Given the description of an element on the screen output the (x, y) to click on. 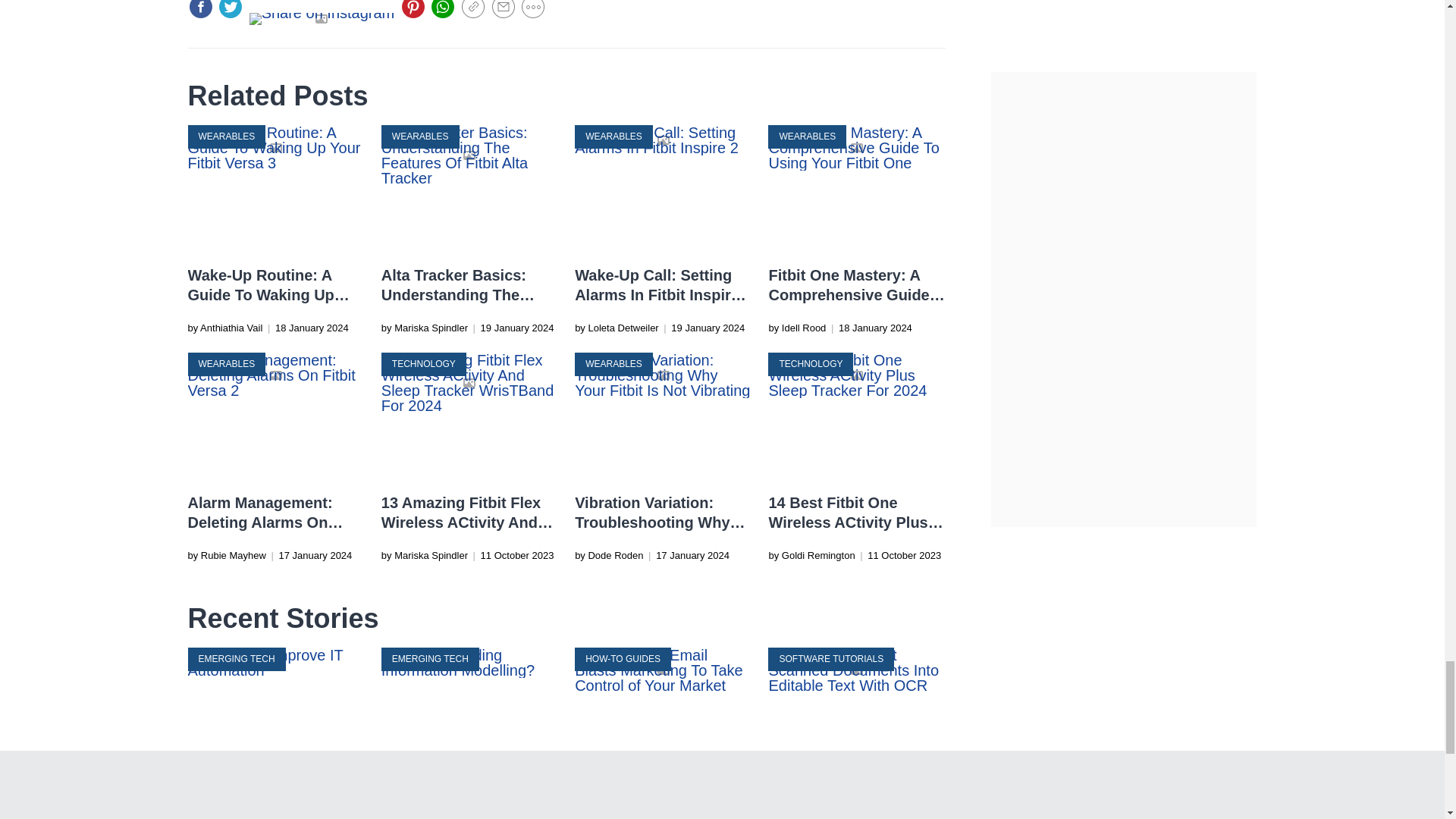
Share on facebook (200, 9)
